Given the description of an element on the screen output the (x, y) to click on. 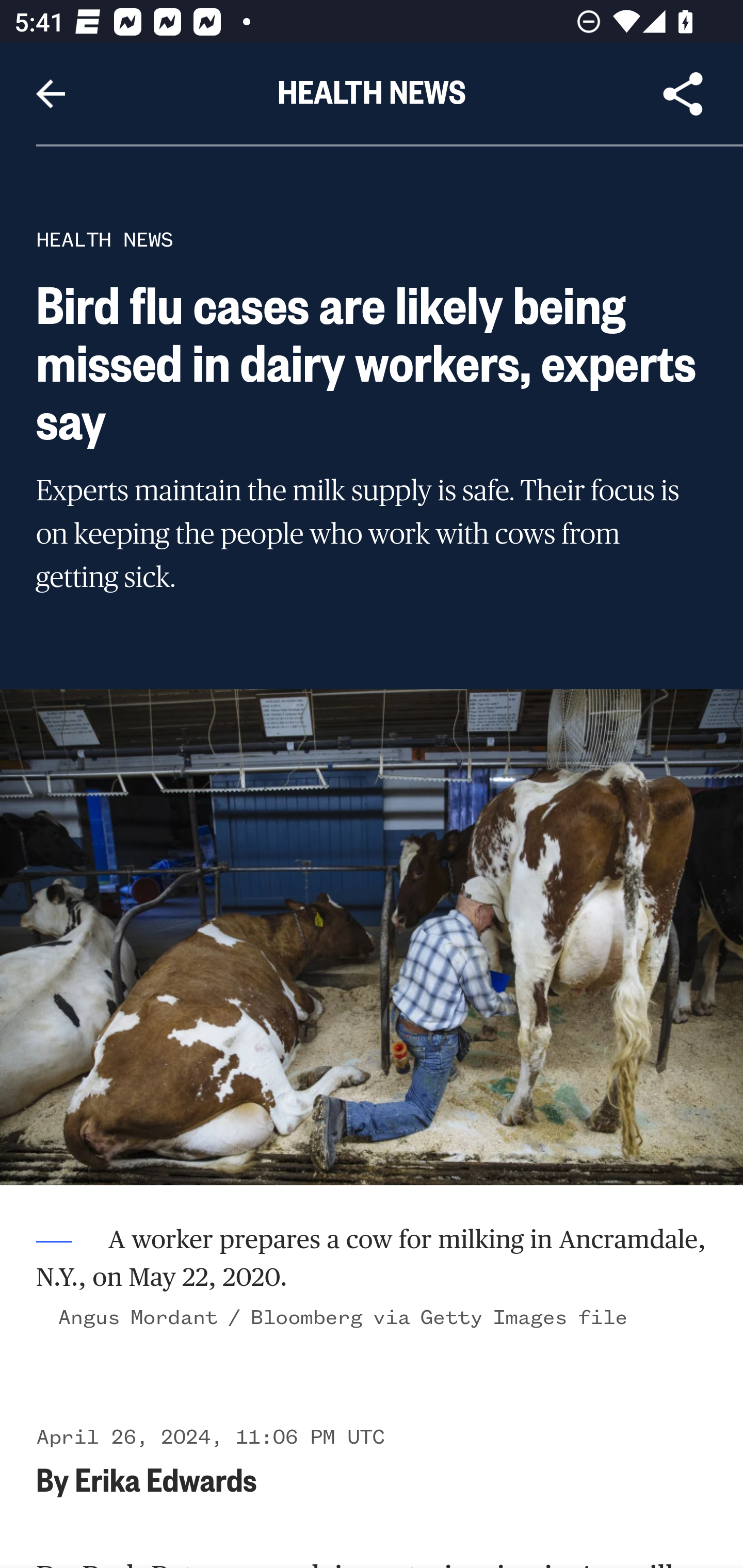
Navigate up (50, 93)
Share Article, button (683, 94)
